Given the description of an element on the screen output the (x, y) to click on. 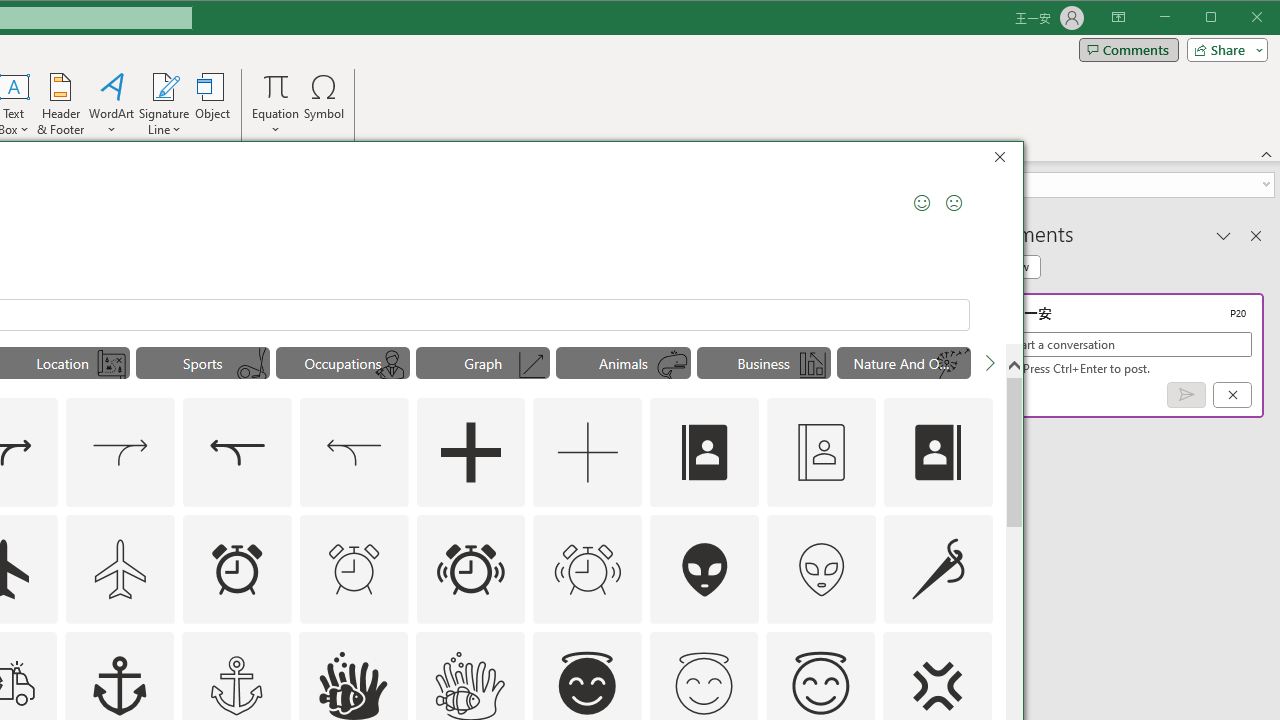
AutomationID: Icons_AlarmClock_M (353, 568)
Post comment (Ctrl + Enter) (1186, 395)
AutomationID: Icons_Acquisition_LTR_M (120, 452)
Equation (275, 86)
Cancel (1232, 395)
AutomationID: Icons_AlarmRinging_M (587, 568)
"Business" Icons. (763, 362)
AutomationID: Icons_Elliptical_M (252, 365)
